Given the description of an element on the screen output the (x, y) to click on. 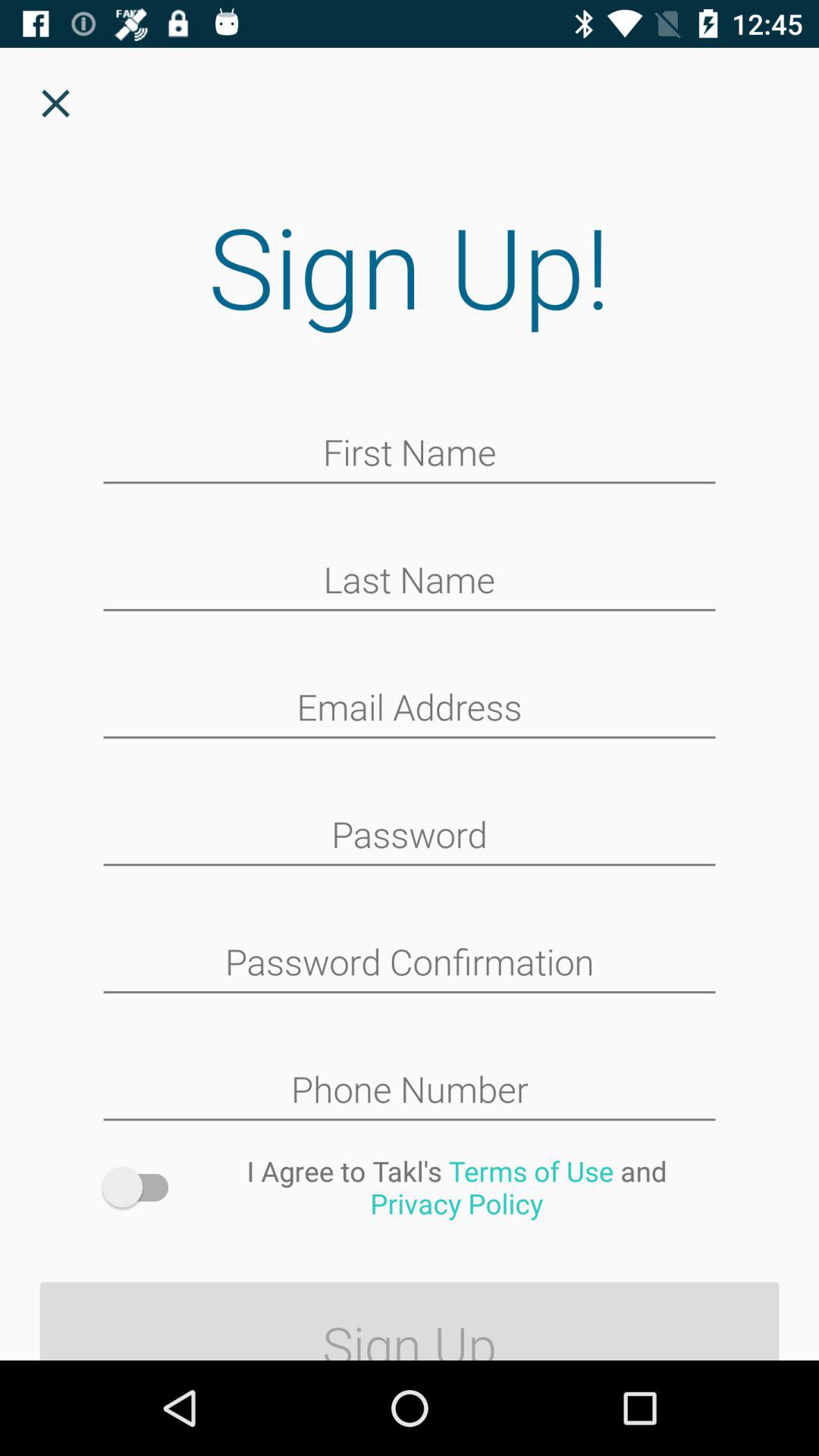
press the icon above the sign up icon (456, 1187)
